Given the description of an element on the screen output the (x, y) to click on. 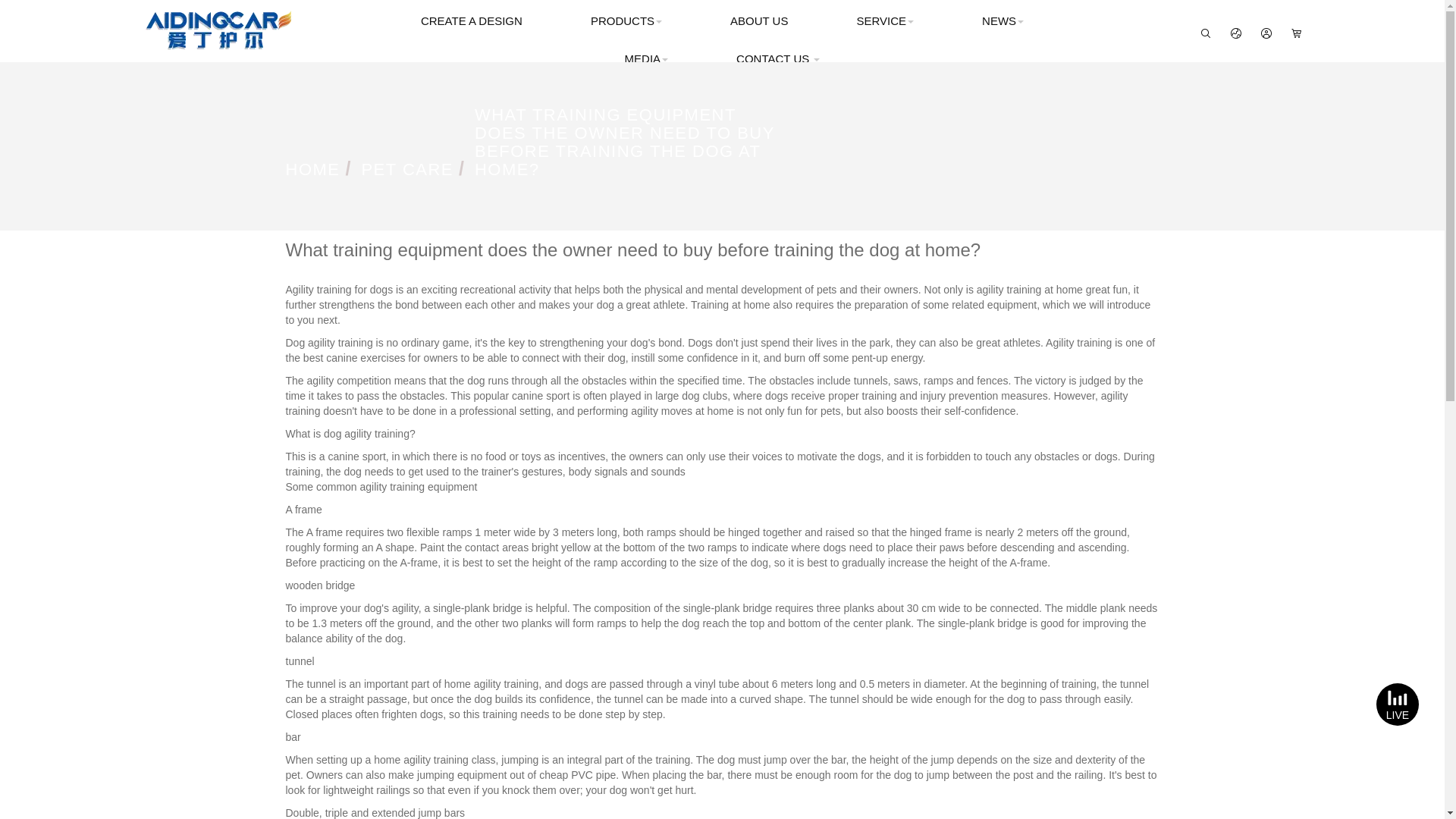
CREATE A DESIGN (470, 21)
Puyang Selfaiding Industrial Co., Ltd (218, 30)
PRODUCTS (625, 21)
My Account (1266, 33)
